Given the description of an element on the screen output the (x, y) to click on. 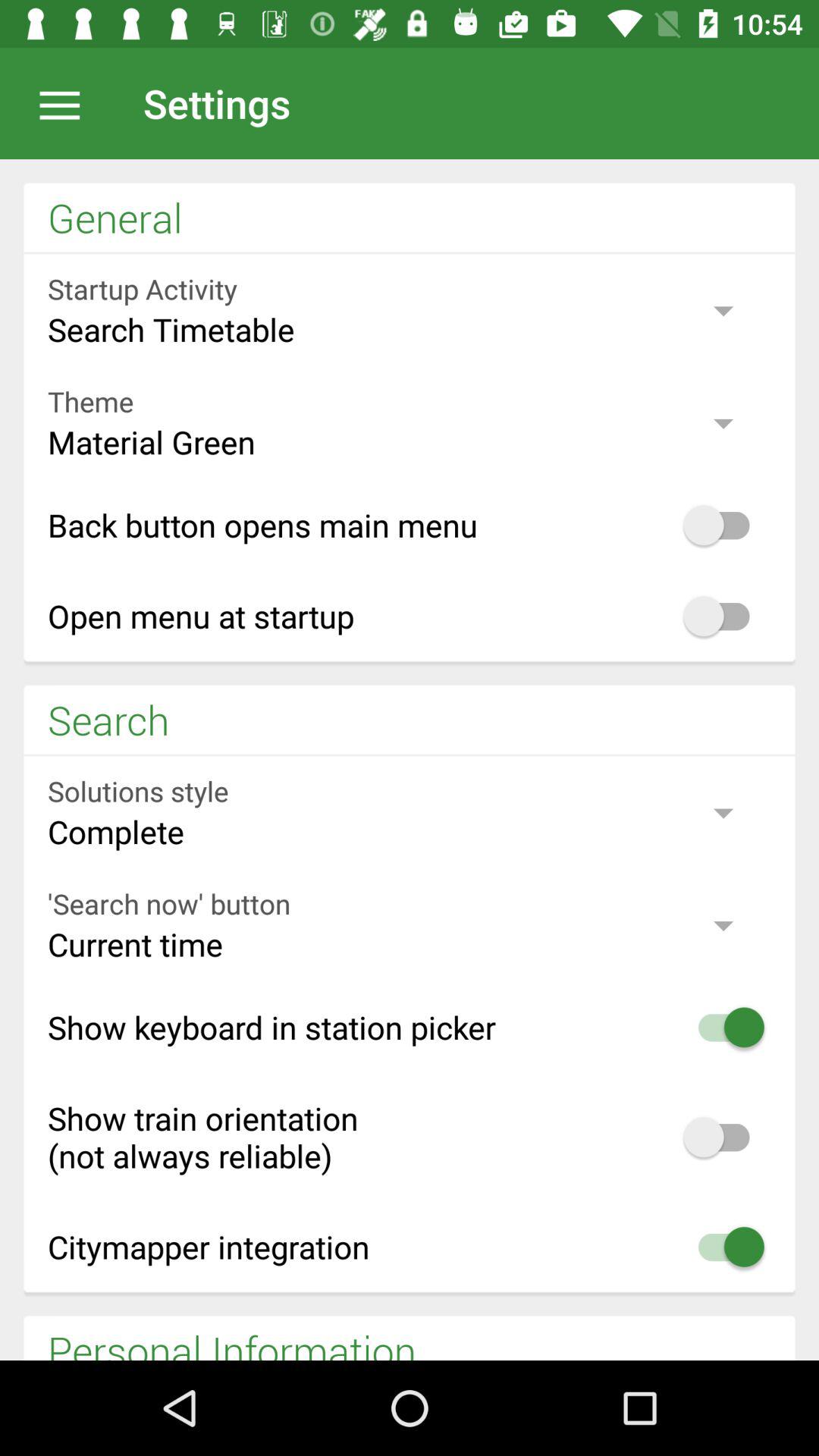
open menu (67, 103)
